Given the description of an element on the screen output the (x, y) to click on. 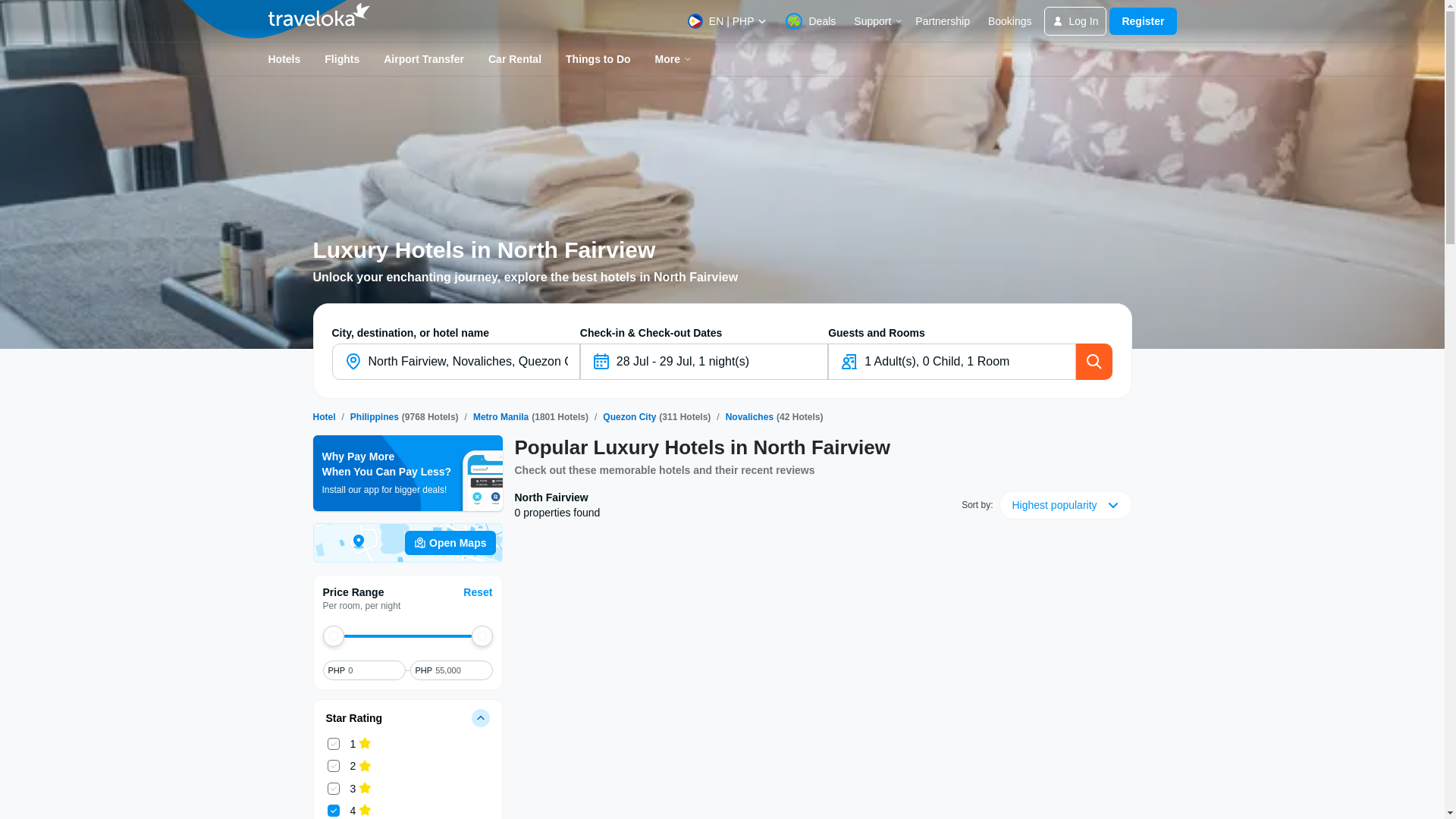
Things to Do (598, 58)
Quezon City (629, 417)
Metro Manila (500, 417)
Flights (341, 58)
Hotels in Novaliches (749, 417)
Partnership (942, 20)
Airport Transfer (423, 58)
Car Rental (514, 58)
Philippines (374, 417)
Bookings (1010, 20)
Deals (809, 21)
Hotels (323, 417)
Novaliches (749, 417)
0 (372, 669)
Hotel (323, 417)
